Given the description of an element on the screen output the (x, y) to click on. 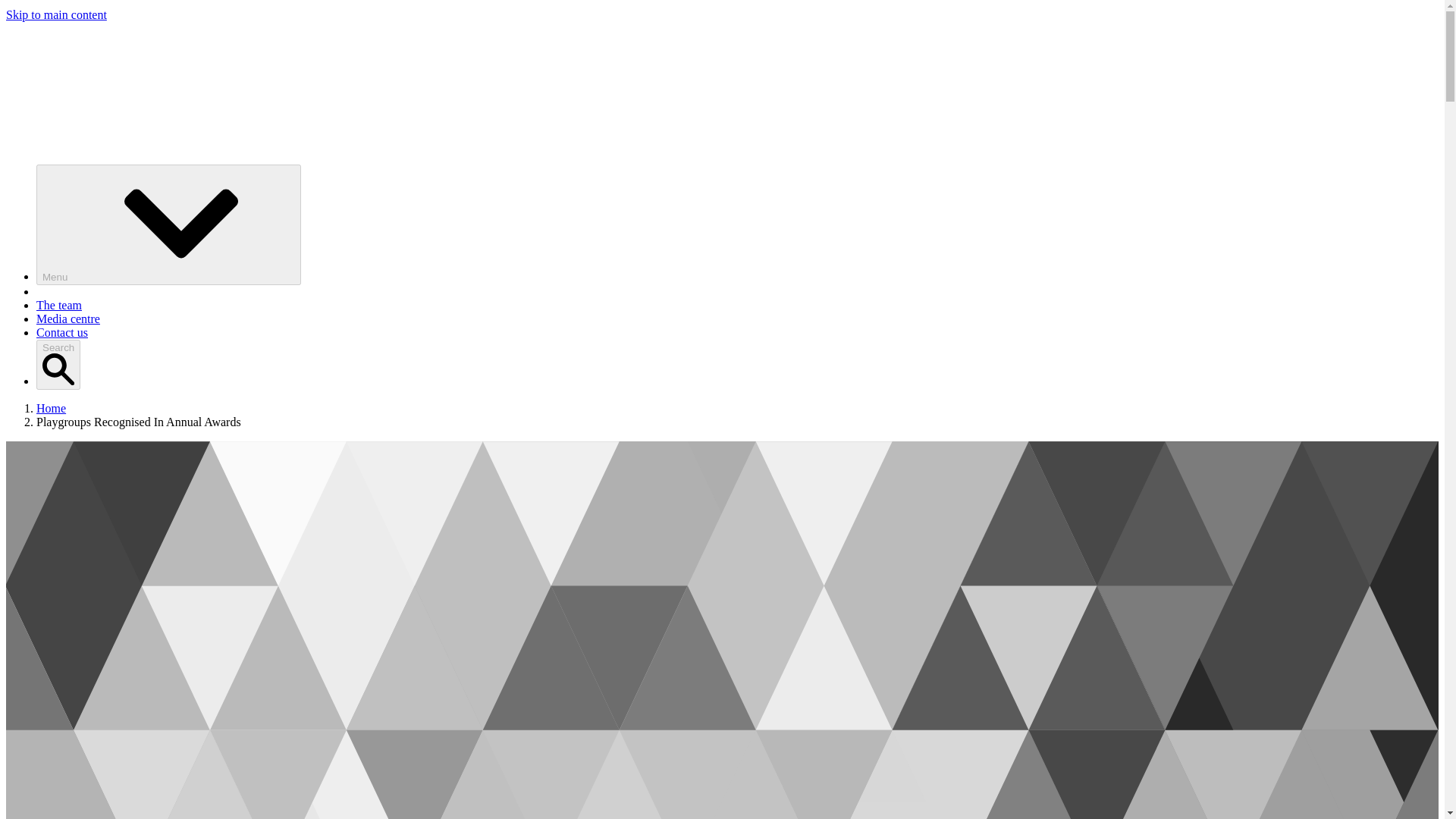
Contact us (61, 332)
The team (58, 305)
Media centre (68, 318)
Skip to main content (55, 14)
Home (50, 408)
